Given the description of an element on the screen output the (x, y) to click on. 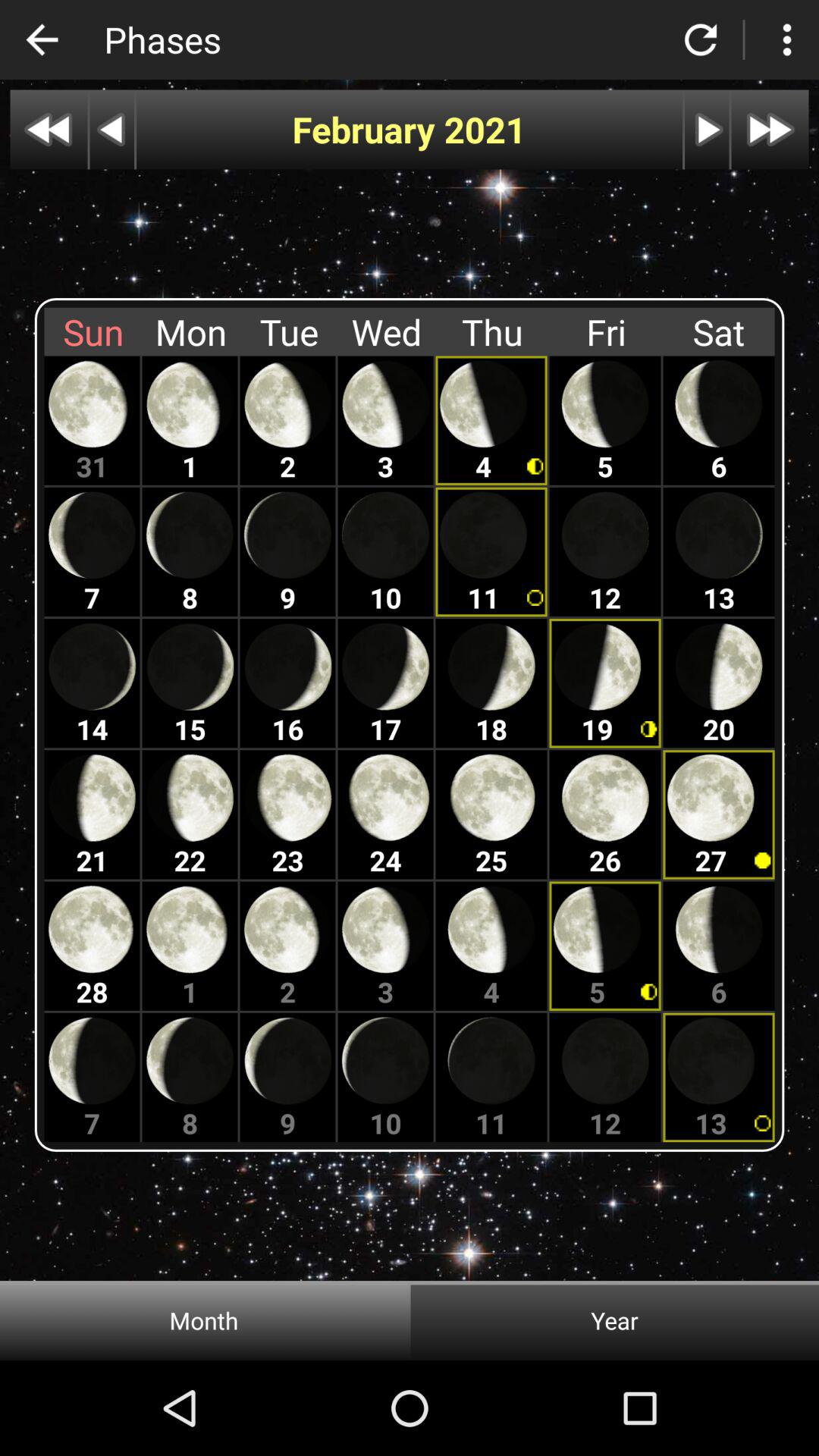
toggle autoplay option (706, 129)
